Given the description of an element on the screen output the (x, y) to click on. 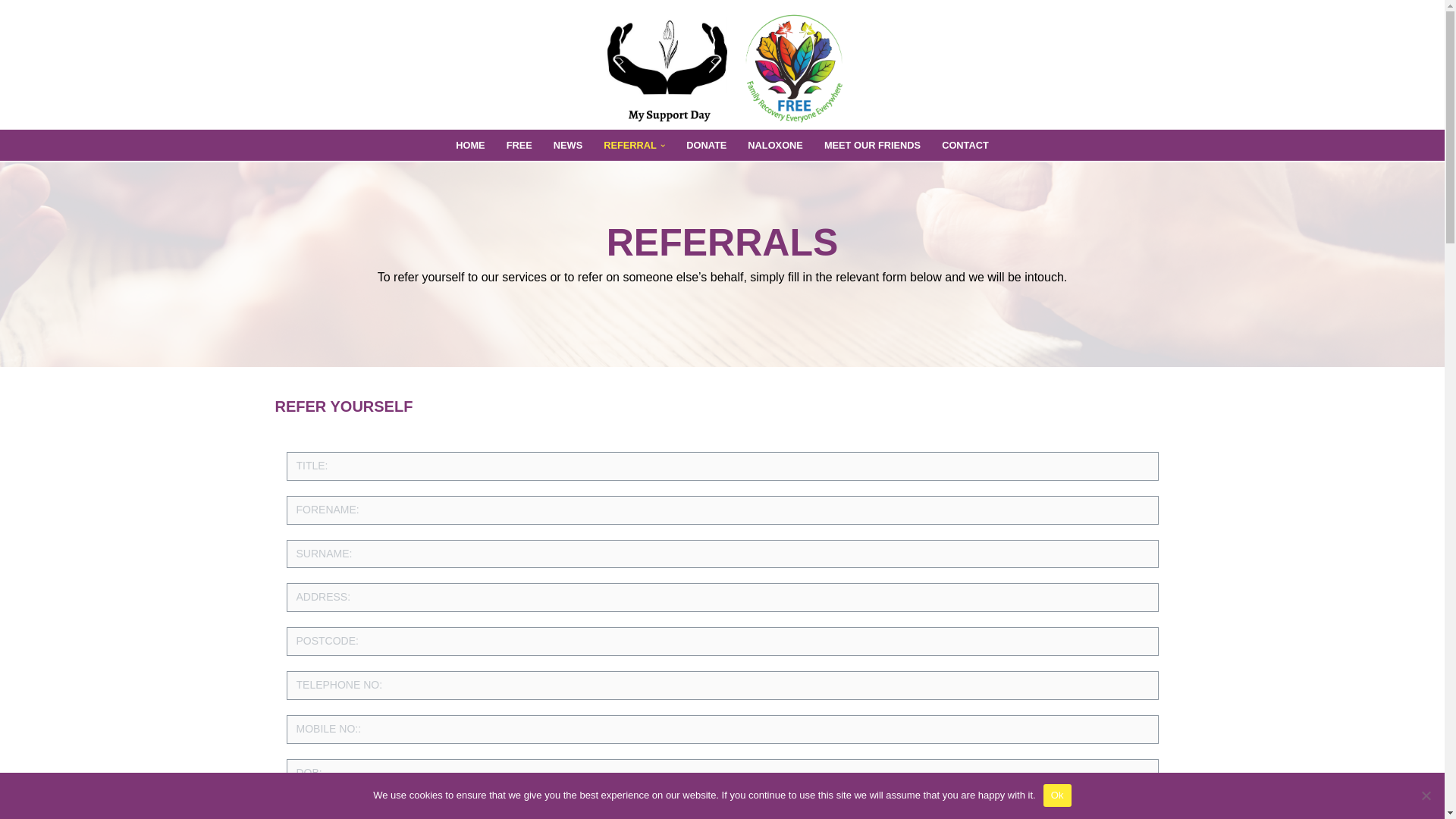
NEWS (567, 144)
DONATE (705, 144)
Skip to content (11, 31)
REFERRAL (630, 144)
HOME (469, 144)
CONTACT (965, 144)
MEET OUR FRIENDS (872, 144)
FREE (519, 144)
Ok (1057, 794)
NALOXONE (775, 144)
